Given the description of an element on the screen output the (x, y) to click on. 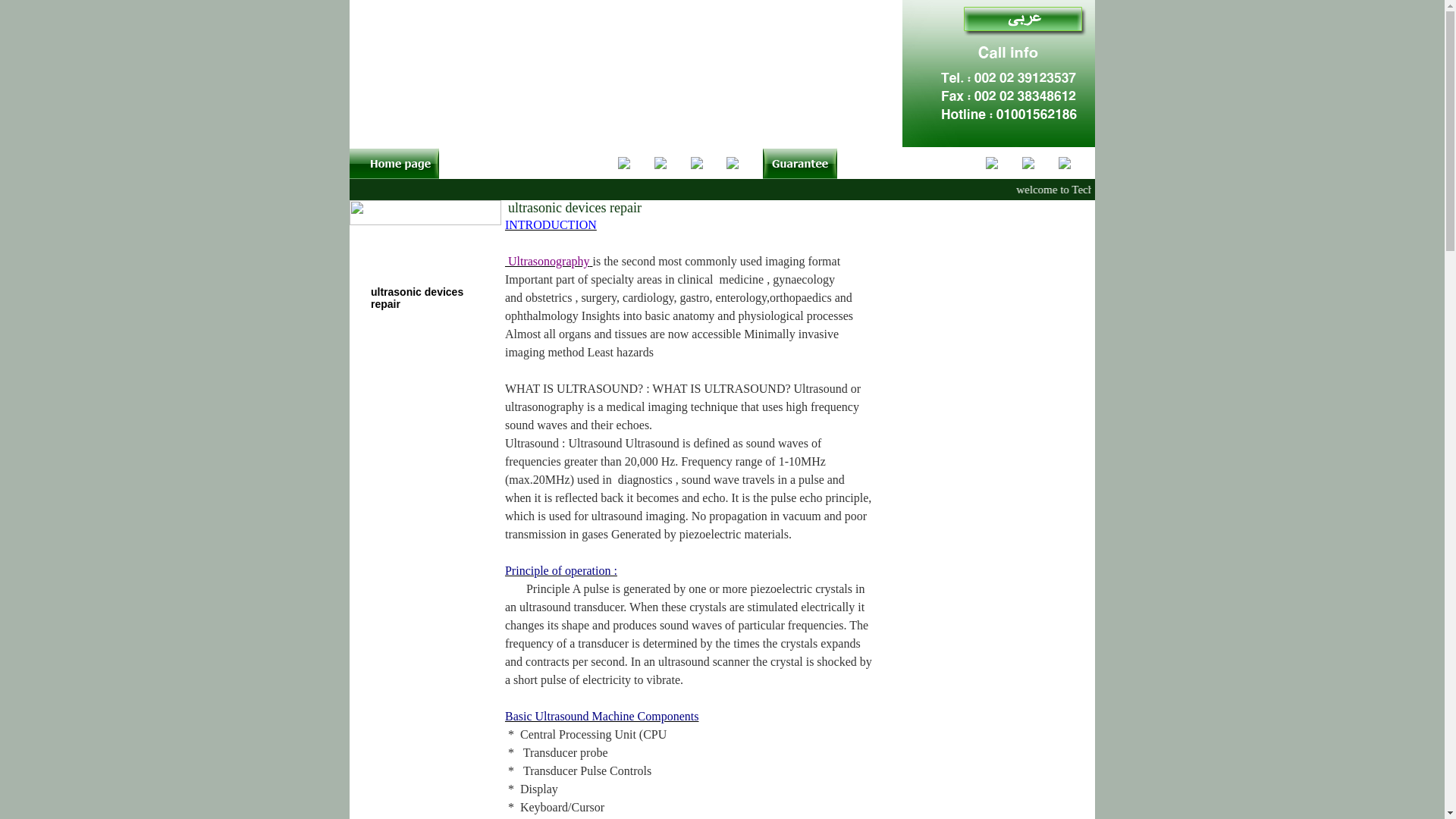
nesthesia machine repair (418, 504)
Ophthalmology devices repair (430, 415)
Medical laboratory equipment repair (417, 386)
hyfrecators repair or maintenance (422, 651)
centrifuges repair or maintenance (422, 564)
ultrasonic devices repair (417, 297)
OEM electronic boards repair (428, 268)
Autoclaves and Sterilizers repair (412, 238)
Aspirator suction pumps maintenance (422, 533)
medical monitors repair (431, 445)
audio meters repair or maintenance (427, 592)
Dental devices repair (424, 327)
radiology devices repair (432, 356)
Bladder scan repair or maintenance (427, 622)
dopplers (392, 682)
